Given the description of an element on the screen output the (x, y) to click on. 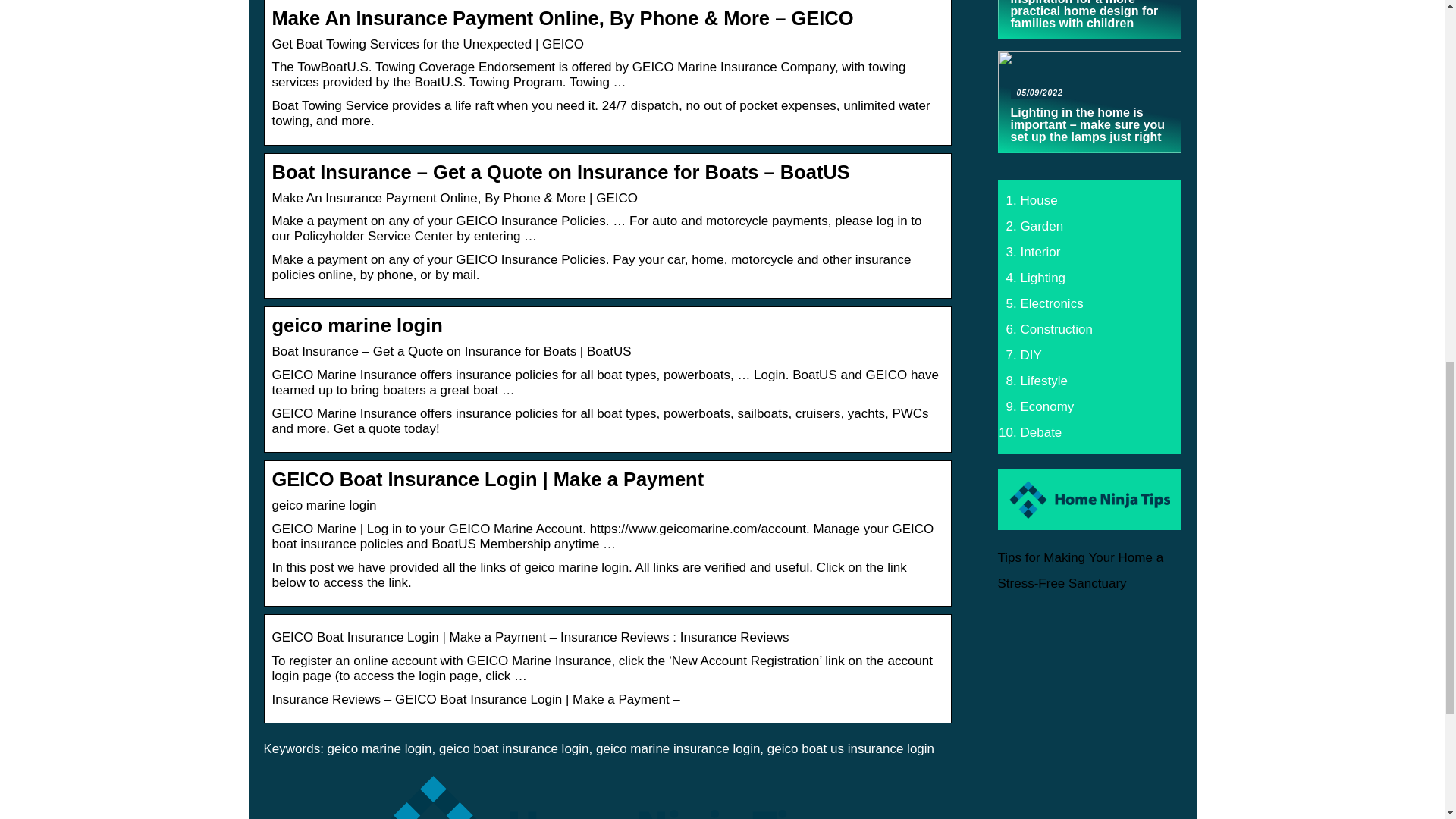
Construction (1056, 329)
Lighting (1042, 278)
Interior (1040, 251)
Economy (1047, 406)
Lifestyle (1043, 380)
House (1039, 200)
DIY (1031, 355)
Garden (1042, 226)
Tips for Making Your Home a Stress-Free Sanctuary (1080, 570)
Electronics (1051, 303)
